Given the description of an element on the screen output the (x, y) to click on. 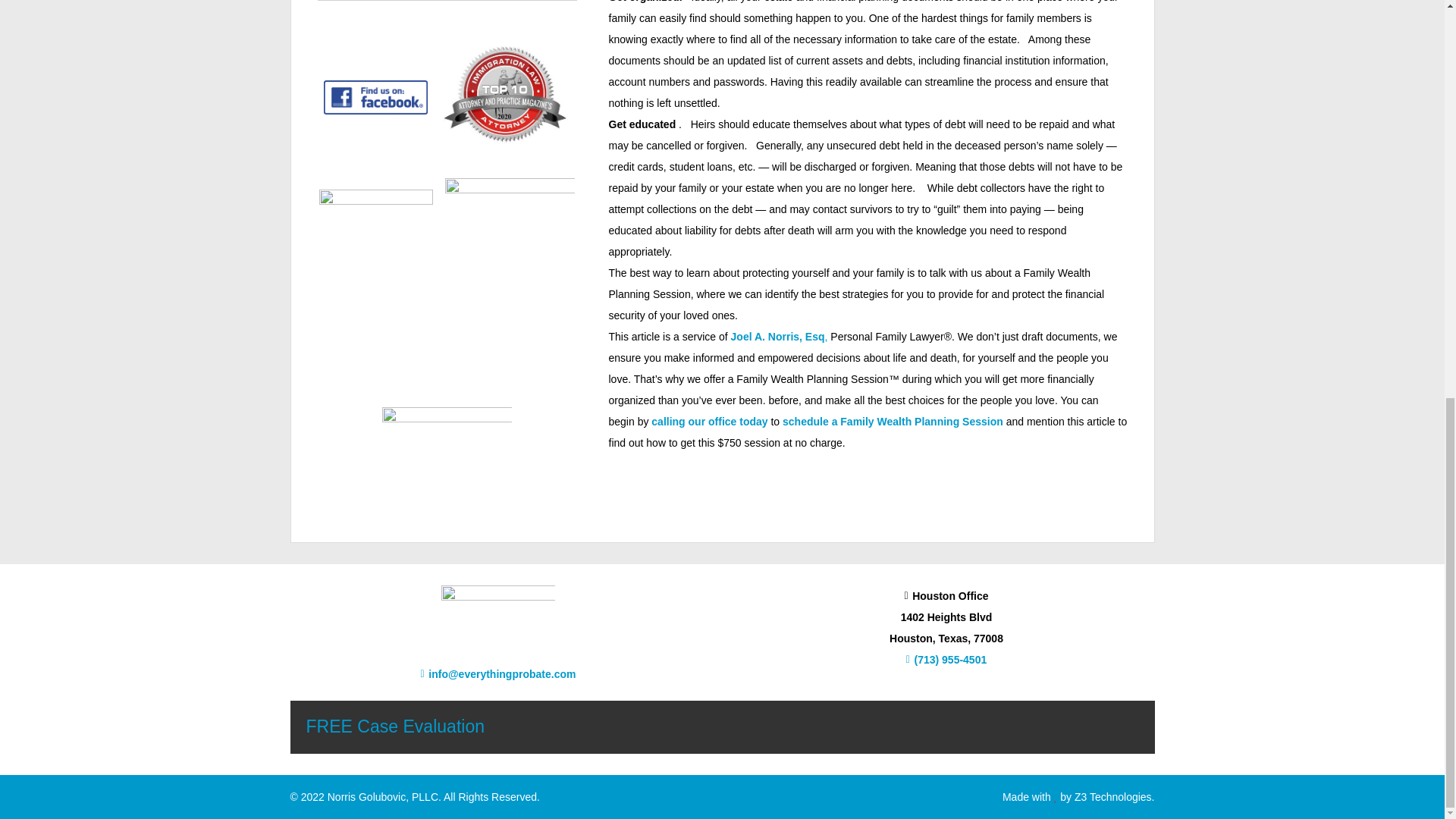
Back to top (1413, 67)
Contact Us (394, 726)
